Given the description of an element on the screen output the (x, y) to click on. 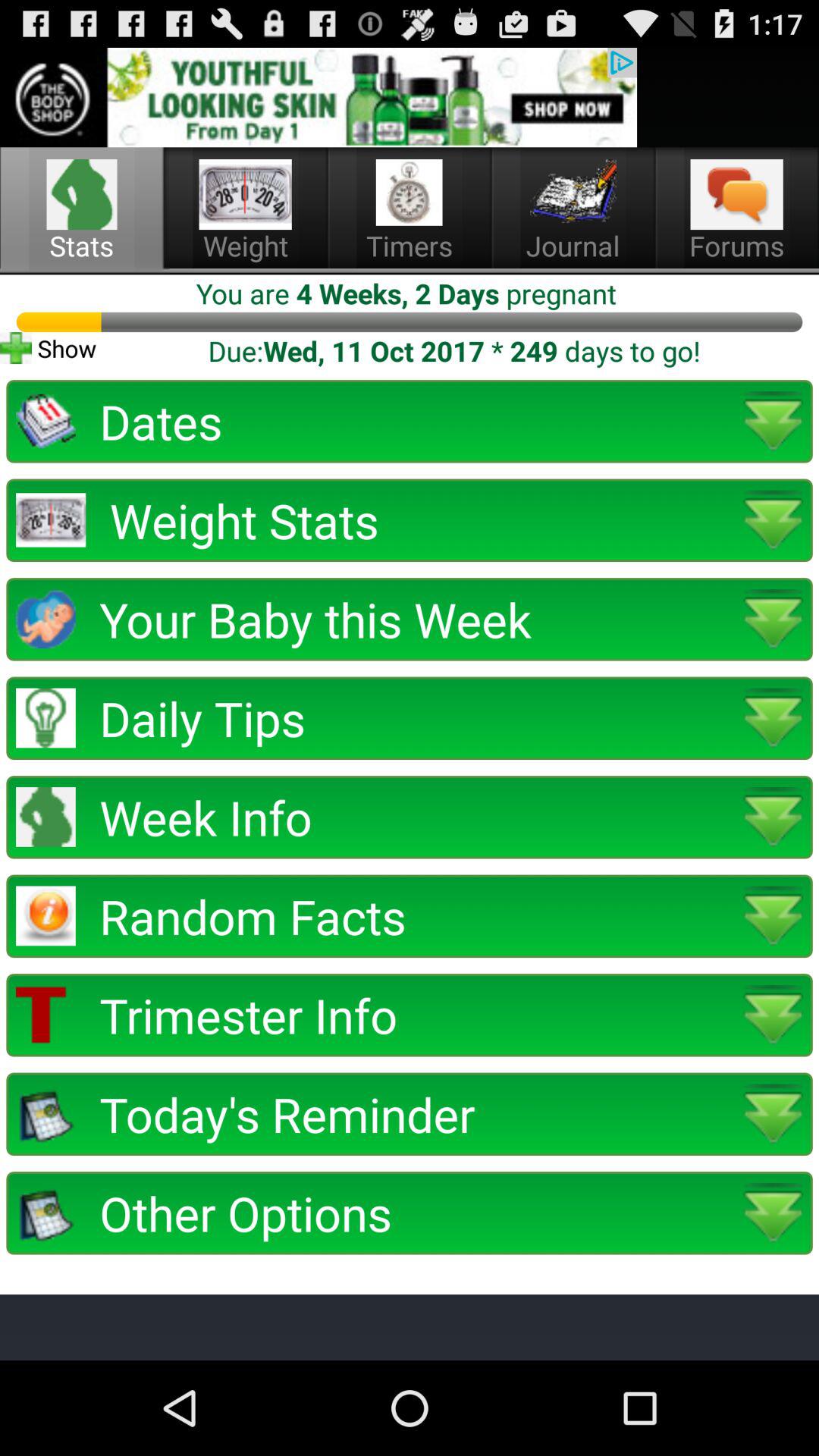
advertisement (318, 97)
